Given the description of an element on the screen output the (x, y) to click on. 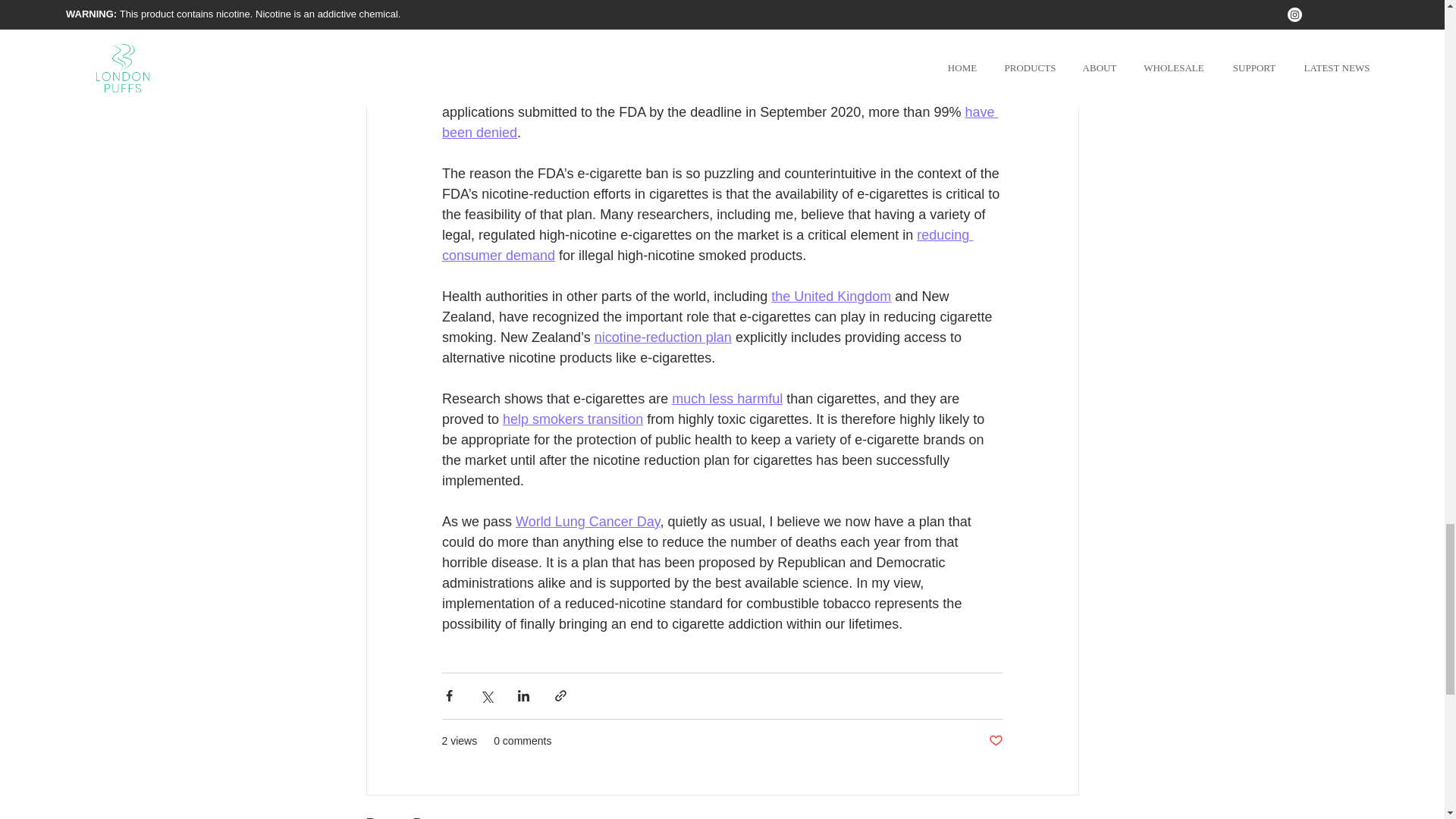
have been denied (719, 122)
nicotine-reduction plan (662, 337)
the United Kingdom (831, 296)
help smokers transition (572, 418)
World Lung Cancer Day (587, 521)
much less harmful (727, 398)
reducing consumer demand (706, 244)
